Given the description of an element on the screen output the (x, y) to click on. 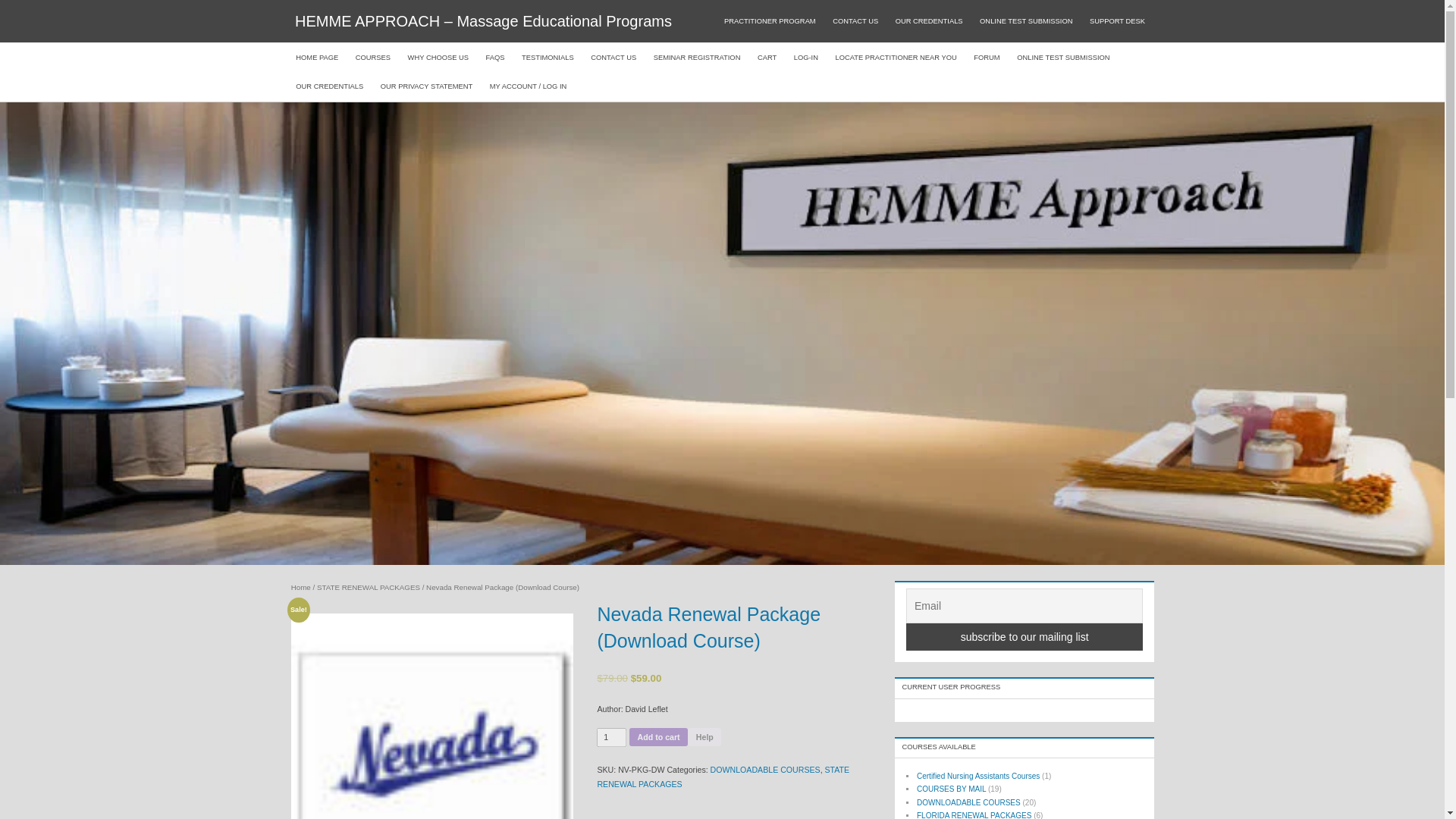
Testimonials (547, 57)
STATE RENEWAL PACKAGES (368, 587)
FORUM (987, 57)
ONLINE TEST SUBMISSION (1026, 21)
OUR CREDENTIALS (328, 86)
DOWNLOADABLE COURSES (765, 768)
Add to cart (657, 737)
FAQS (494, 57)
Home (301, 587)
ONLINE TEST SUBMISSION (1063, 57)
LOCATE PRACTITIONER NEAR YOU (896, 57)
CART (767, 57)
OUR PRIVACY STATEMENT (425, 86)
NV (432, 716)
HOME PAGE (316, 57)
